Given the description of an element on the screen output the (x, y) to click on. 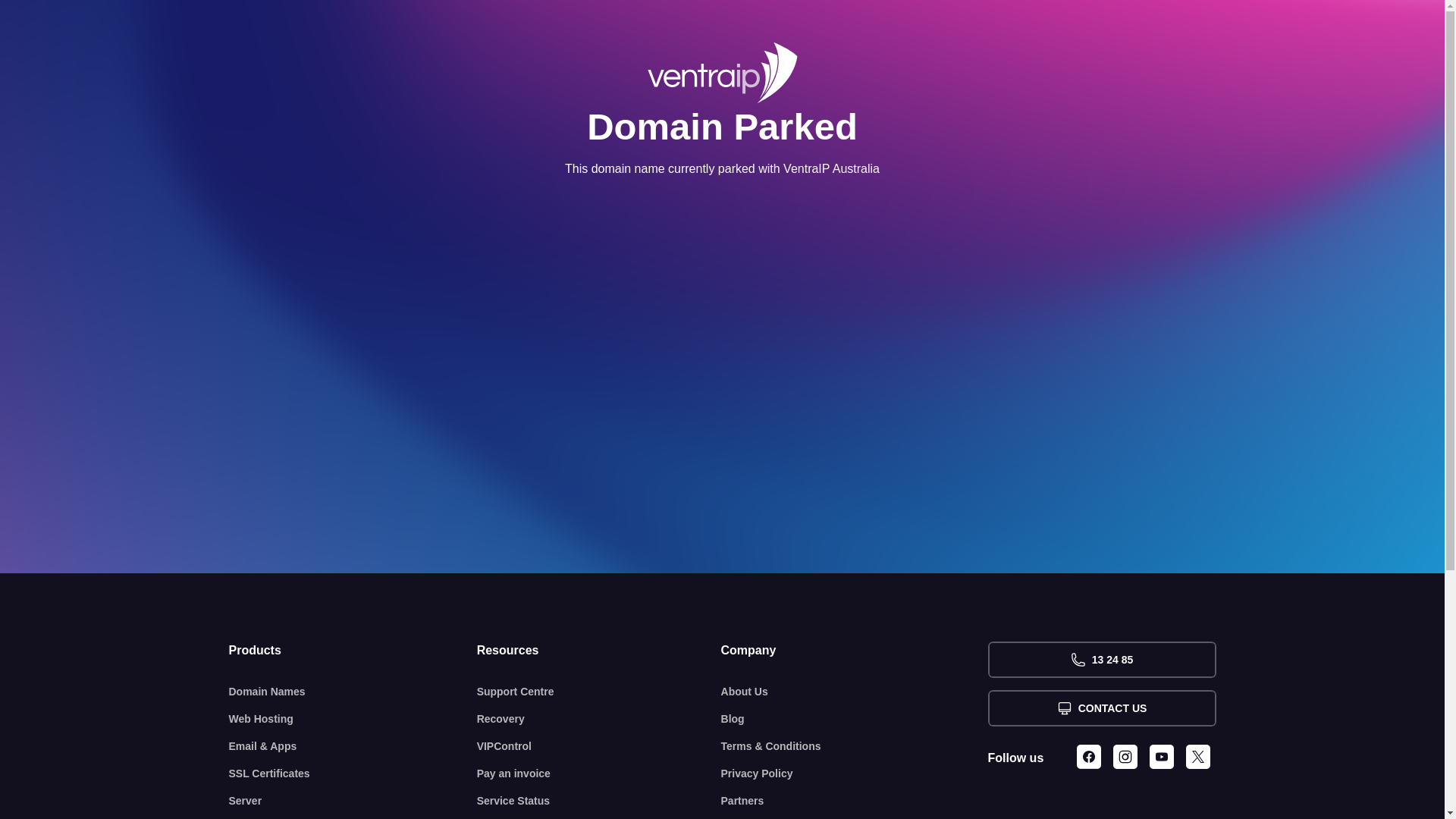
13 24 85 Element type: text (1101, 659)
SSL Certificates Element type: text (352, 773)
Server Element type: text (352, 800)
Privacy Policy Element type: text (854, 773)
Web Hosting Element type: text (352, 718)
Pay an invoice Element type: text (598, 773)
VIPControl Element type: text (598, 745)
Domain Names Element type: text (352, 691)
Blog Element type: text (854, 718)
Partners Element type: text (854, 800)
CONTACT US Element type: text (1101, 708)
Support Centre Element type: text (598, 691)
Recovery Element type: text (598, 718)
Terms & Conditions Element type: text (854, 745)
Email & Apps Element type: text (352, 745)
Service Status Element type: text (598, 800)
About Us Element type: text (854, 691)
